Given the description of an element on the screen output the (x, y) to click on. 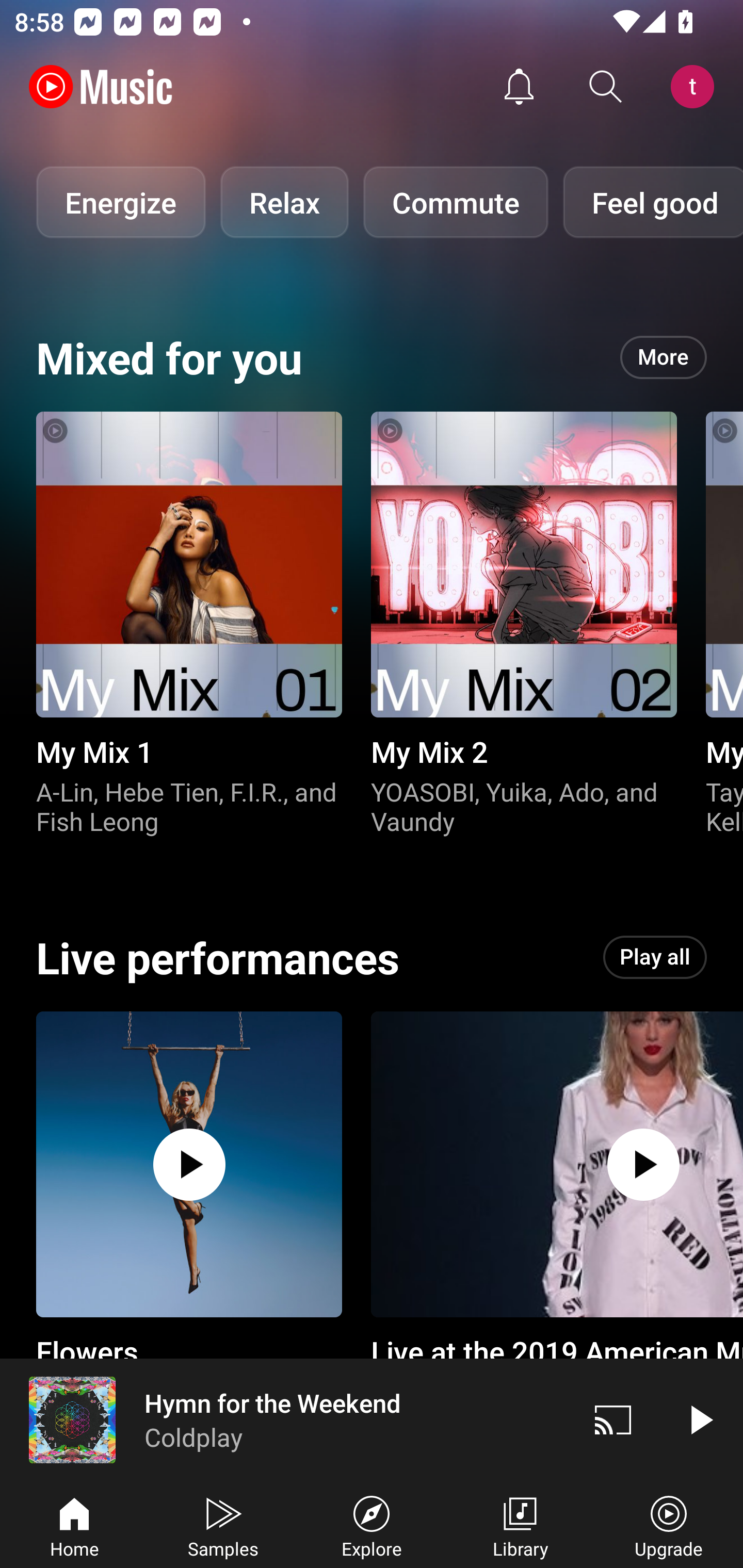
Activity feed (518, 86)
Search (605, 86)
Account (696, 86)
Hymn for the Weekend Coldplay (284, 1419)
Cast. Disconnected (612, 1419)
Play video (699, 1419)
Home (74, 1524)
Samples (222, 1524)
Explore (371, 1524)
Library (519, 1524)
Upgrade (668, 1524)
